Given the description of an element on the screen output the (x, y) to click on. 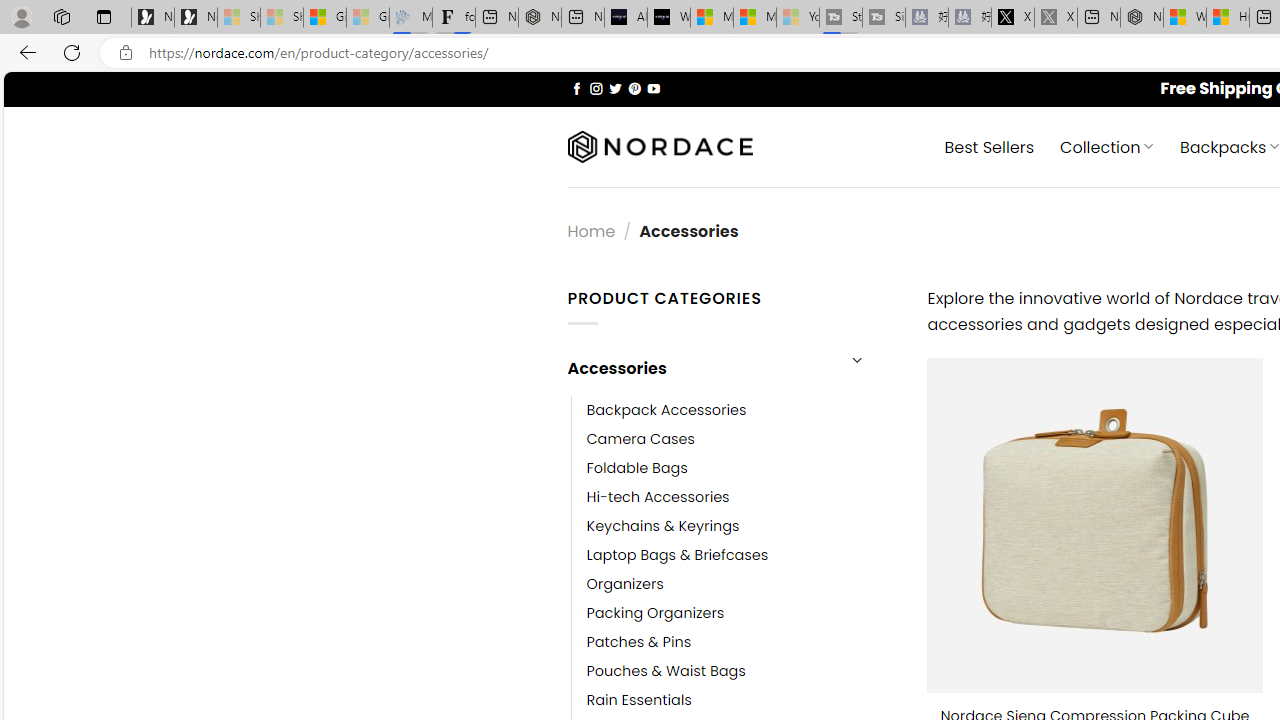
Backpack Accessories (666, 409)
Follow on Facebook (576, 88)
Pouches & Waist Bags (742, 671)
Follow on Twitter (615, 88)
Packing Organizers (742, 614)
Foldable Bags (742, 467)
